Given the description of an element on the screen output the (x, y) to click on. 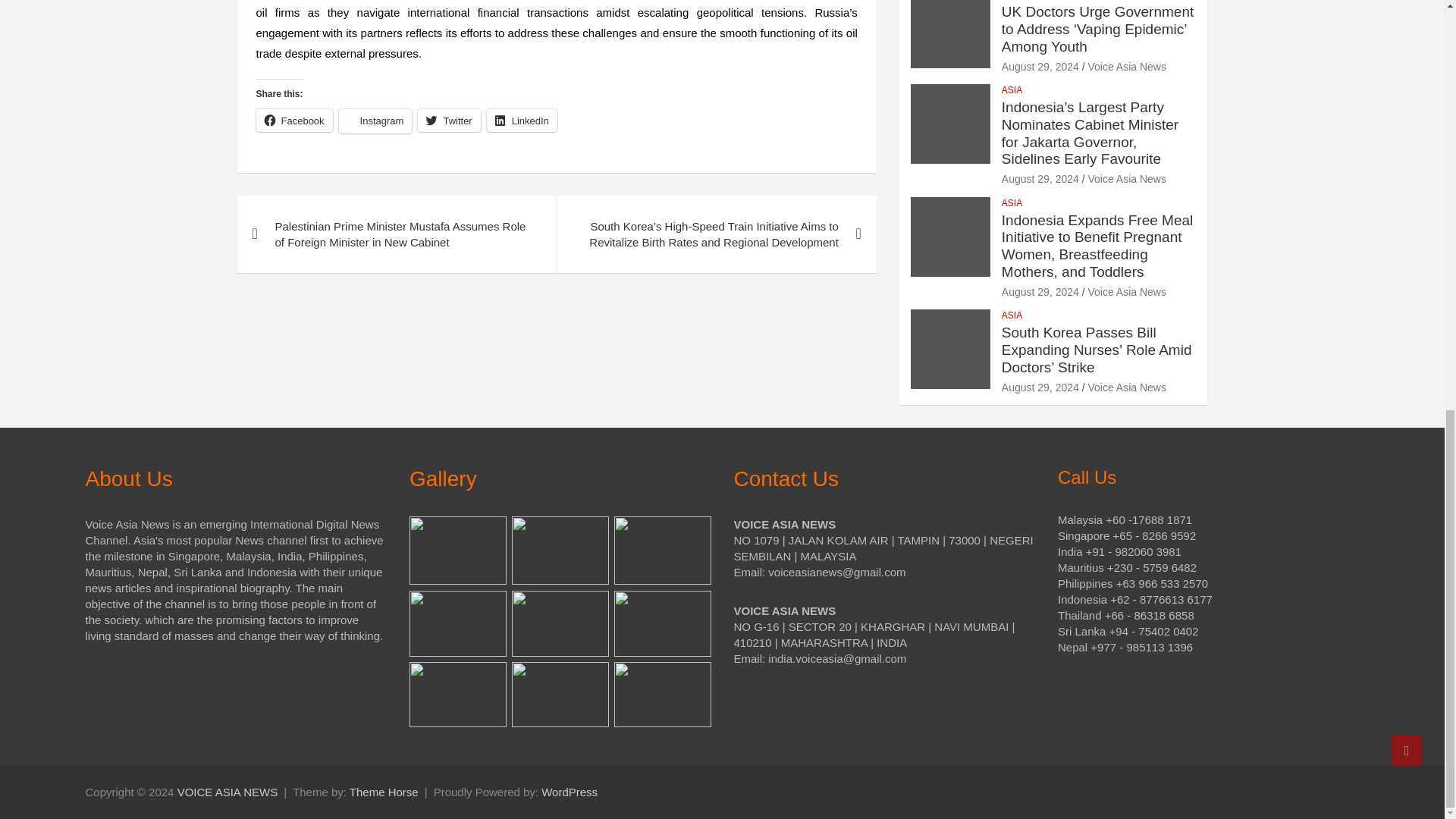
LinkedIn (521, 119)
Twitter (448, 119)
Click to share on LinkedIn (521, 119)
Click to share on Twitter (448, 119)
Click to share on Facebook (294, 119)
Click to share on Instagram (375, 120)
Instagram (375, 120)
Facebook (294, 119)
